Given the description of an element on the screen output the (x, y) to click on. 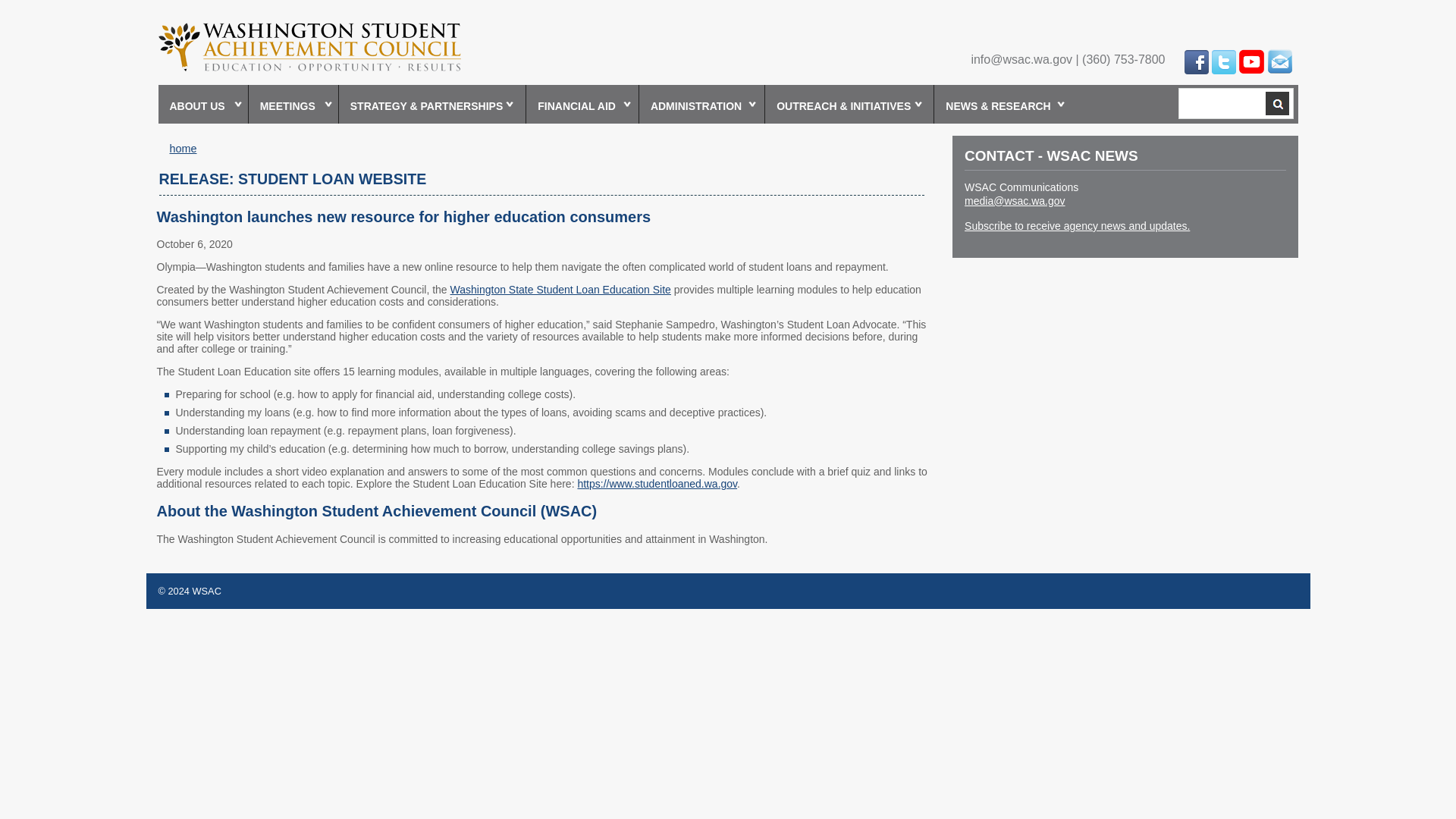
Search (1276, 103)
ABOUT US (202, 104)
MEETINGS (293, 104)
Enter the terms you wish to search for. (1220, 103)
